Given the description of an element on the screen output the (x, y) to click on. 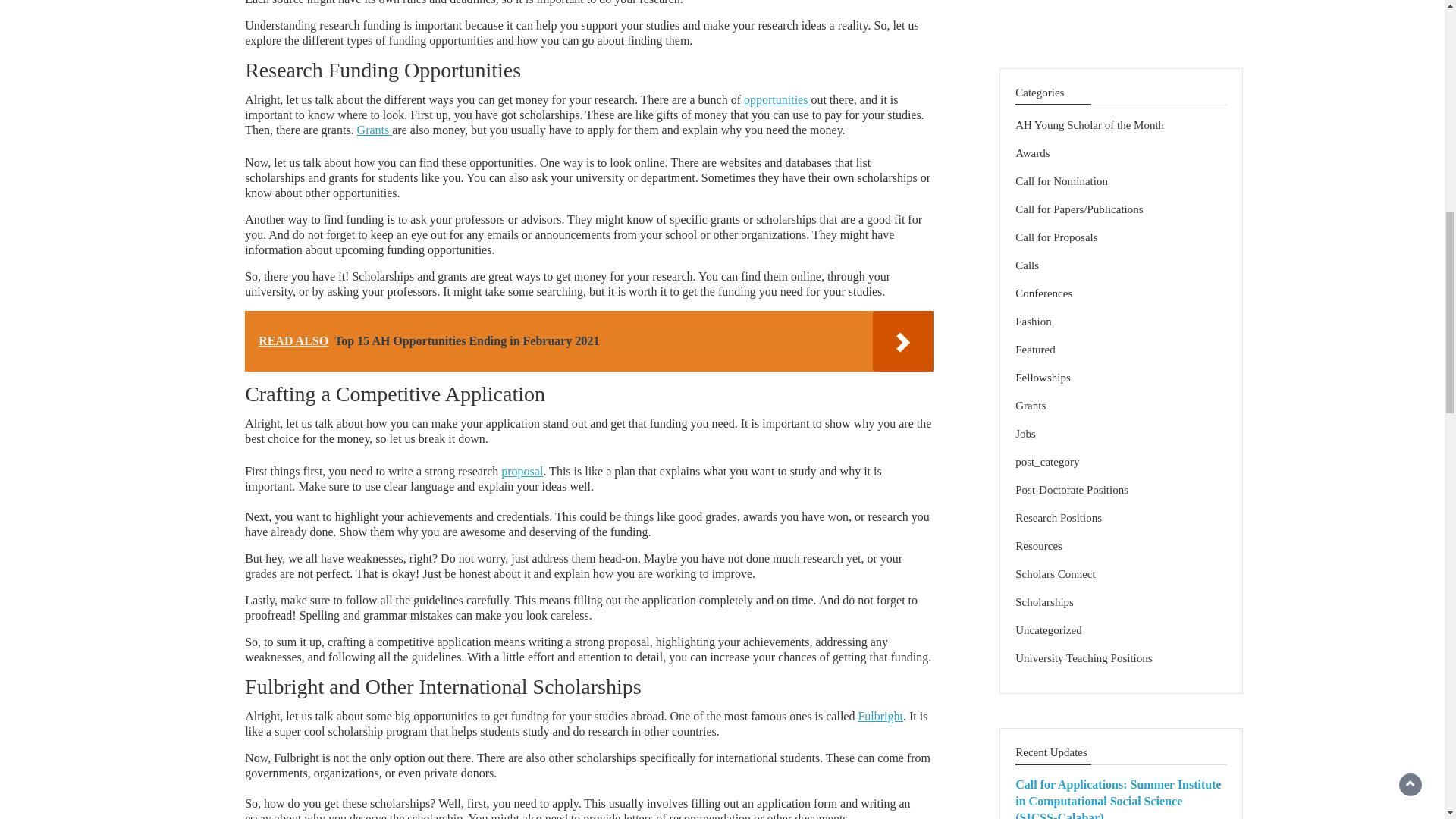
opportunities (777, 99)
